Given the description of an element on the screen output the (x, y) to click on. 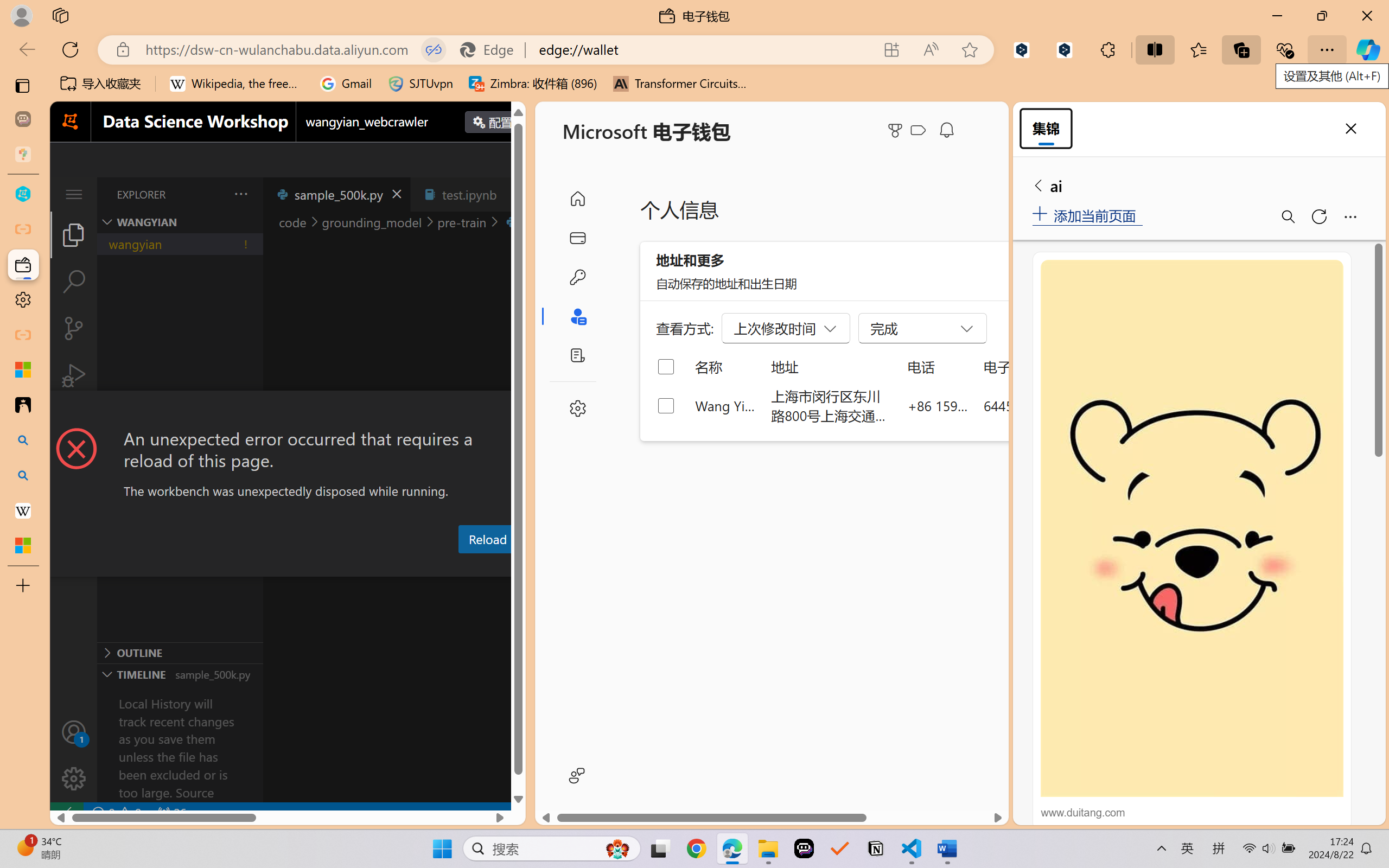
Manage (73, 755)
Edge (492, 49)
